Given the description of an element on the screen output the (x, y) to click on. 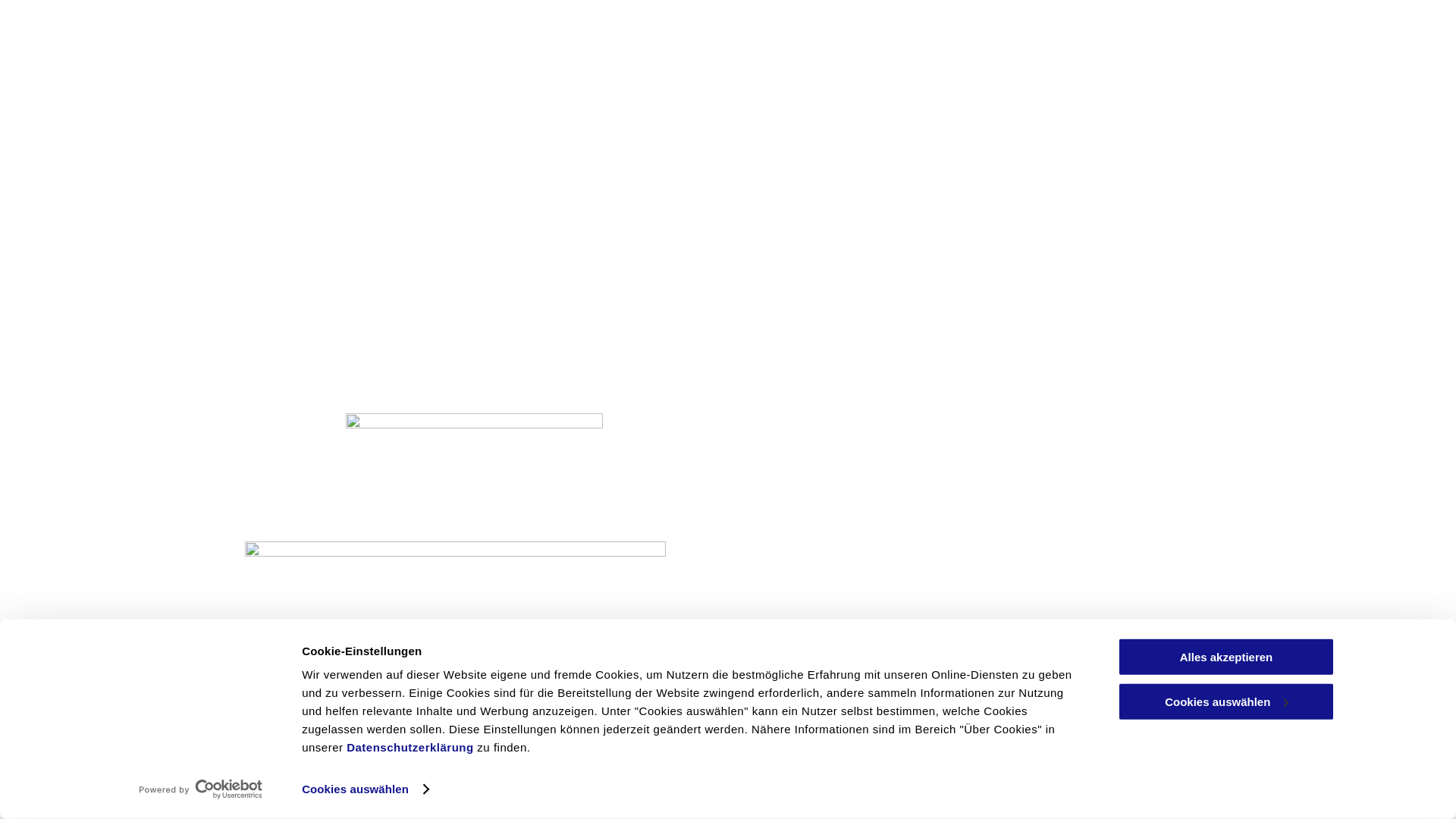
Alles akzeptieren Element type: text (1225, 656)
